Given the description of an element on the screen output the (x, y) to click on. 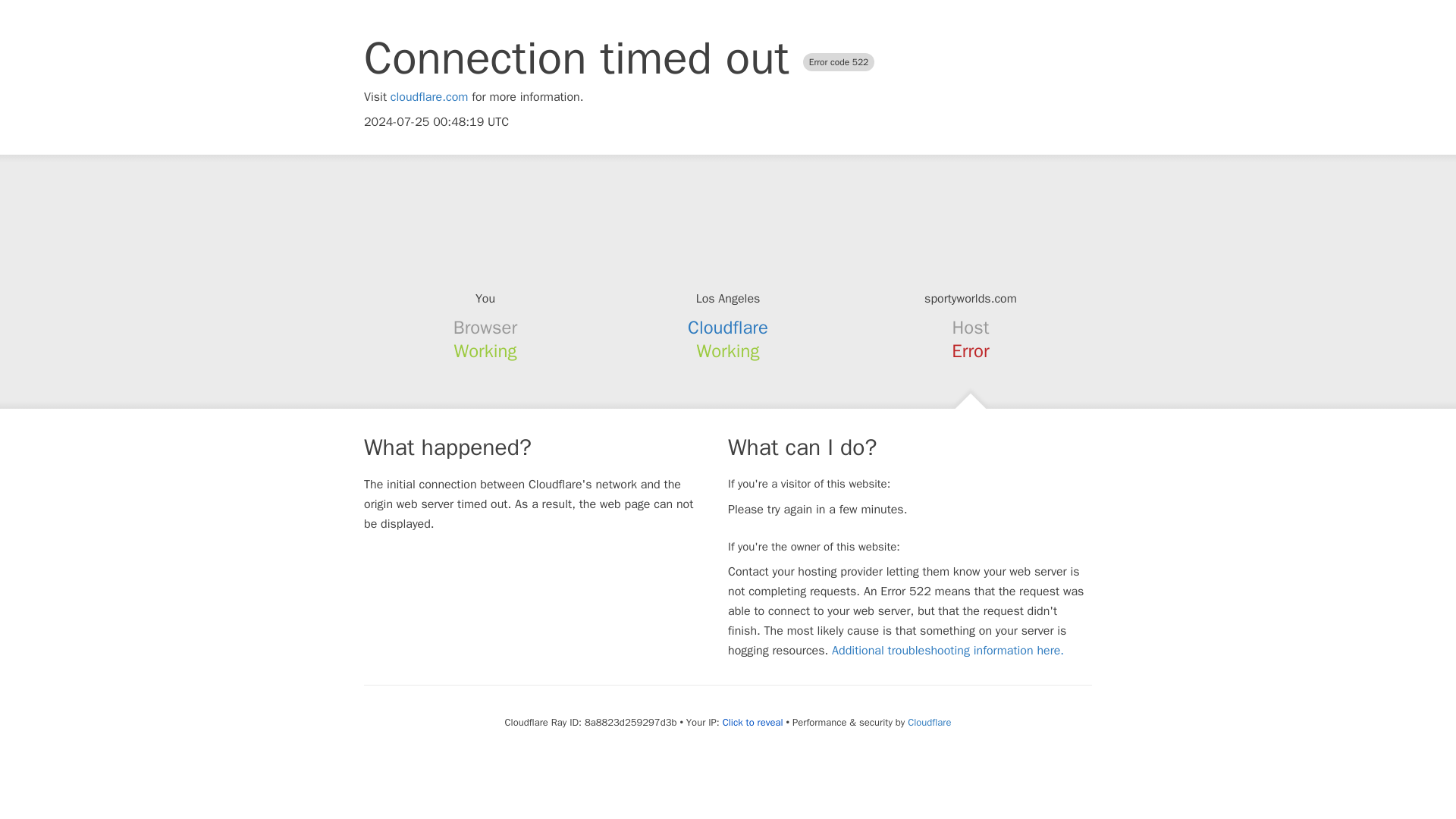
Click to reveal (752, 722)
cloudflare.com (429, 96)
Additional troubleshooting information here. (947, 650)
Cloudflare (928, 721)
Cloudflare (727, 327)
